Given the description of an element on the screen output the (x, y) to click on. 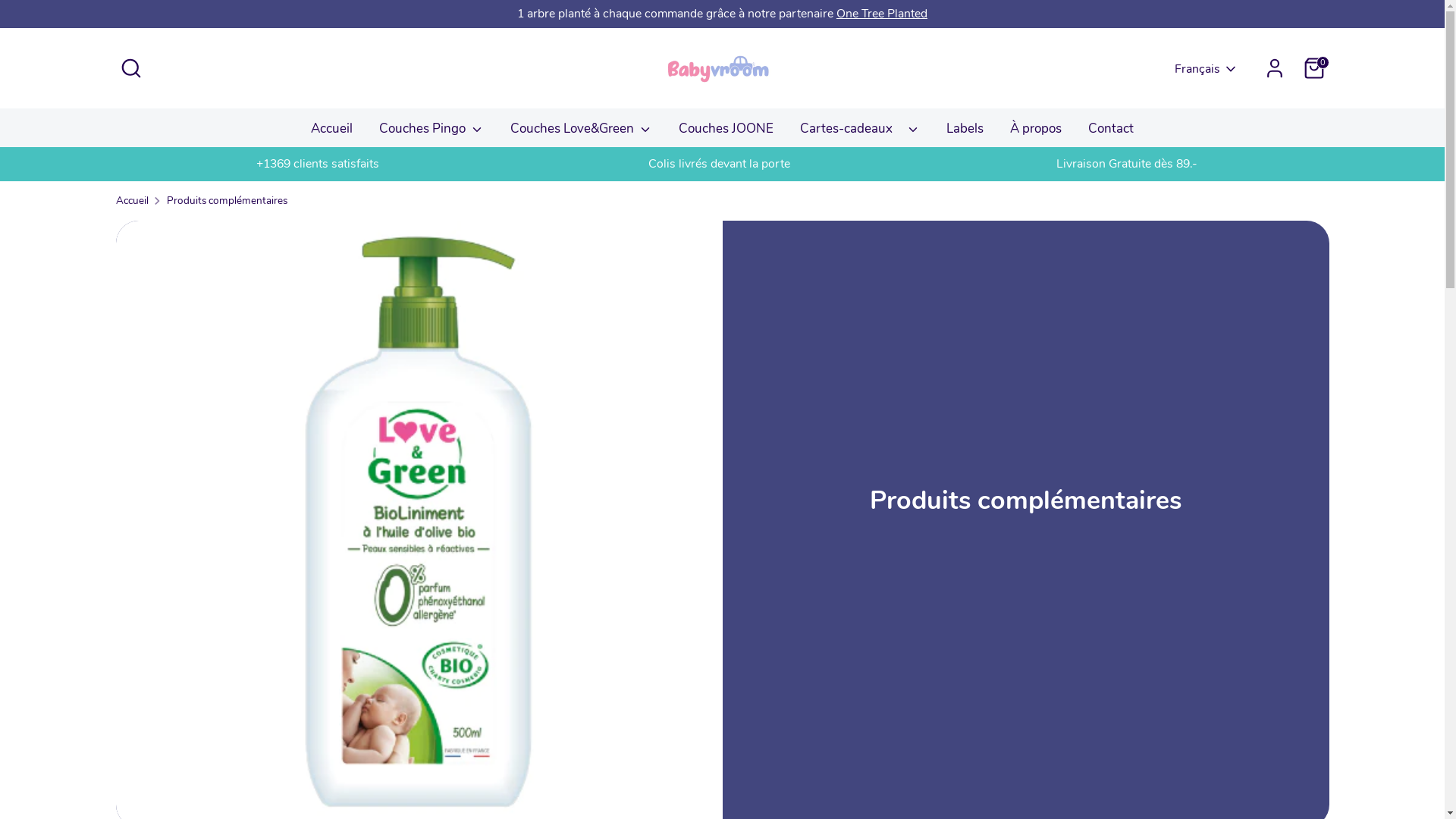
Couches Pingo Element type: text (431, 133)
Accueil Element type: text (331, 133)
Recherche Element type: text (130, 68)
Labels Element type: text (964, 133)
Couches JOONE Element type: text (725, 133)
Accueil Element type: text (131, 200)
0 Element type: text (1313, 68)
One Tree Planted Element type: text (881, 13)
Couches Love&Green Element type: text (580, 133)
Contact Element type: text (1110, 133)
